Given the description of an element on the screen output the (x, y) to click on. 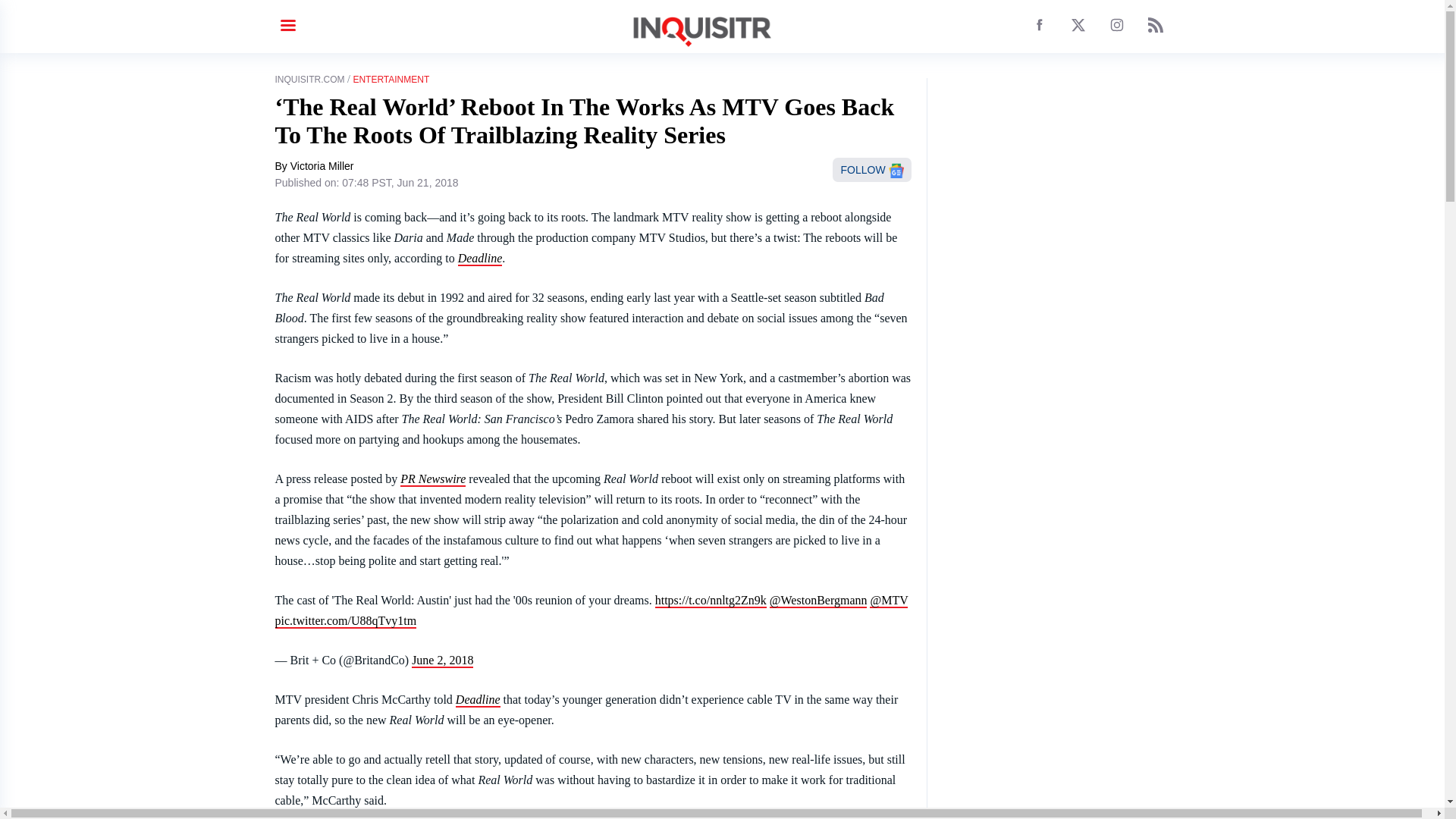
INQUISITR.COM (309, 79)
ENTERTAINMENT (390, 79)
